Given the description of an element on the screen output the (x, y) to click on. 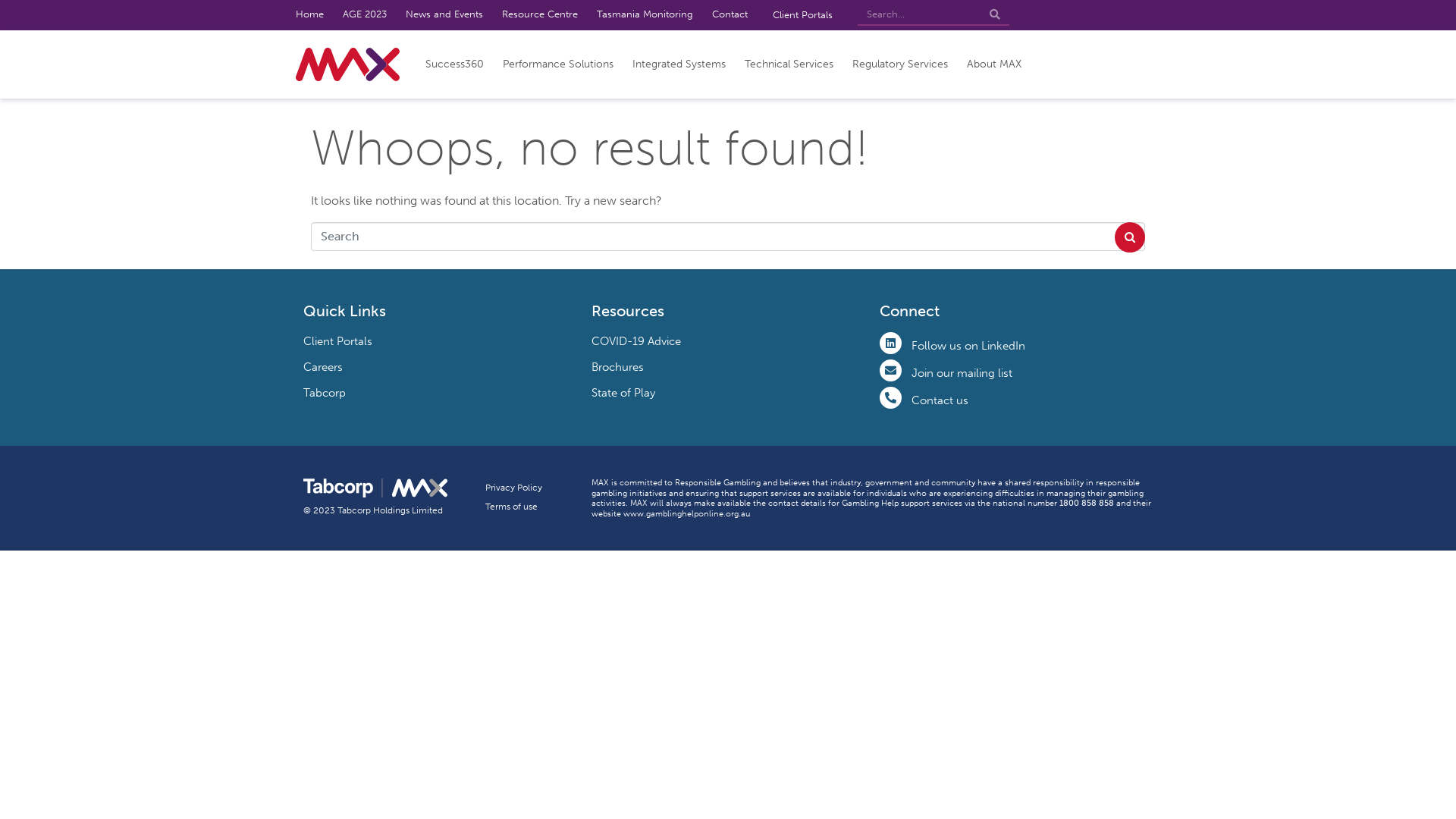
Privacy Policy Element type: text (513, 489)
Technical Services Element type: text (788, 64)
Home Element type: text (309, 14)
State of Play Element type: text (623, 392)
Follow us on LinkedIn Element type: text (968, 345)
Terms of use Element type: text (511, 508)
News and Events Element type: text (444, 14)
Success360 Element type: text (454, 64)
Careers Element type: text (322, 367)
www.gamblinghelponline.org.au Element type: text (686, 513)
Regulatory Services Element type: text (899, 64)
Tabcorp Element type: text (324, 392)
Join our mailing list Element type: text (961, 373)
Integrated Systems Element type: text (678, 64)
About MAX Element type: text (993, 64)
Contact us Element type: text (939, 400)
COVID-19 Advice Element type: text (635, 341)
1800 858 858 Element type: text (1086, 502)
Performance Solutions Element type: text (557, 64)
Tasmania Monitoring Element type: text (644, 14)
Brochures Element type: text (617, 367)
Client Portals Element type: text (802, 14)
Contact Element type: text (729, 14)
AGE 2023 Element type: text (364, 14)
Resource Centre Element type: text (539, 14)
Client Portals Element type: text (337, 341)
